Given the description of an element on the screen output the (x, y) to click on. 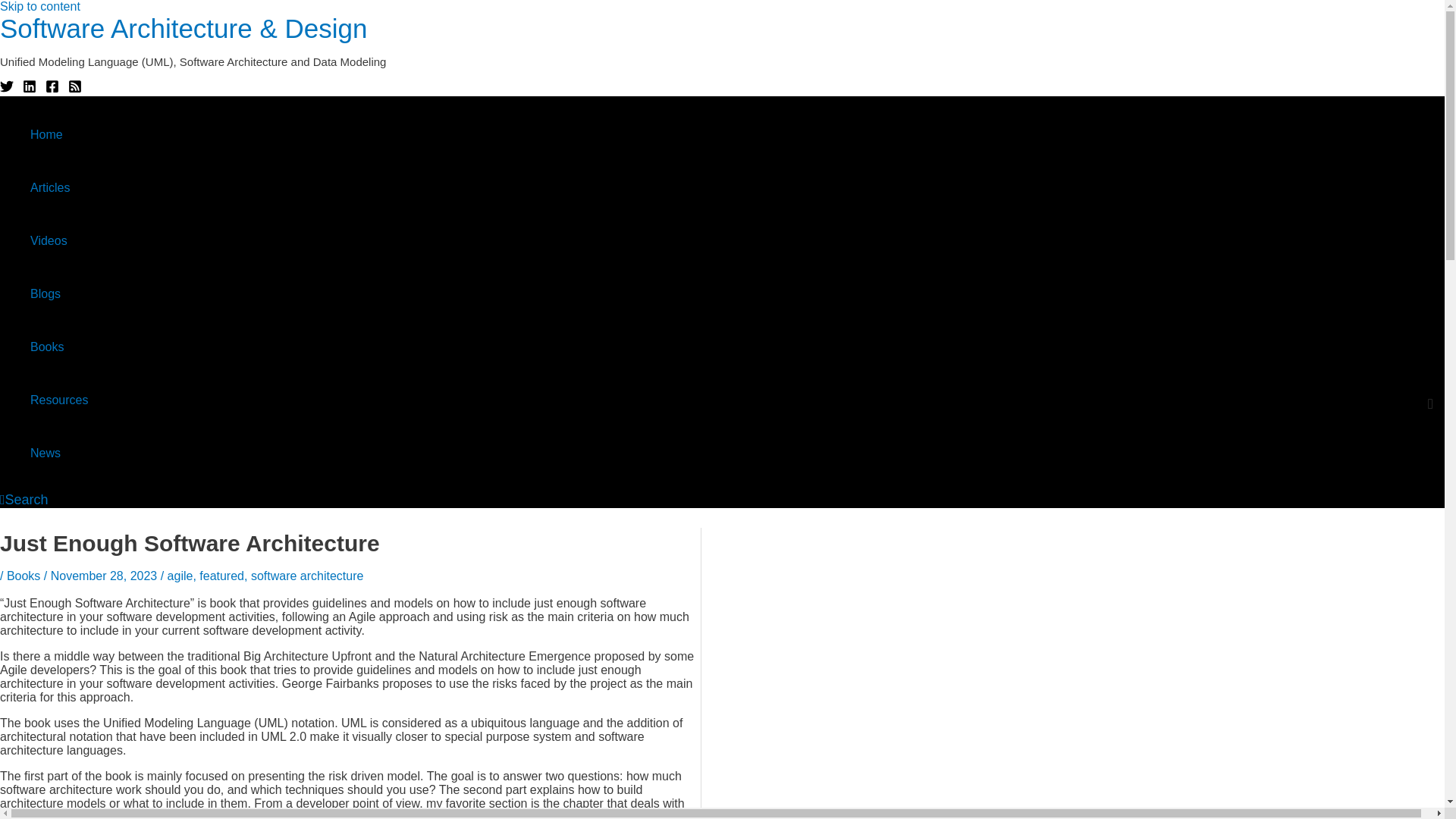
Skip to content (40, 6)
News (58, 452)
Articles (58, 187)
Resources (58, 399)
software architecture (307, 575)
Books (58, 347)
Home (58, 134)
Blogs (58, 294)
Skip to content (40, 6)
featured (221, 575)
